Given the description of an element on the screen output the (x, y) to click on. 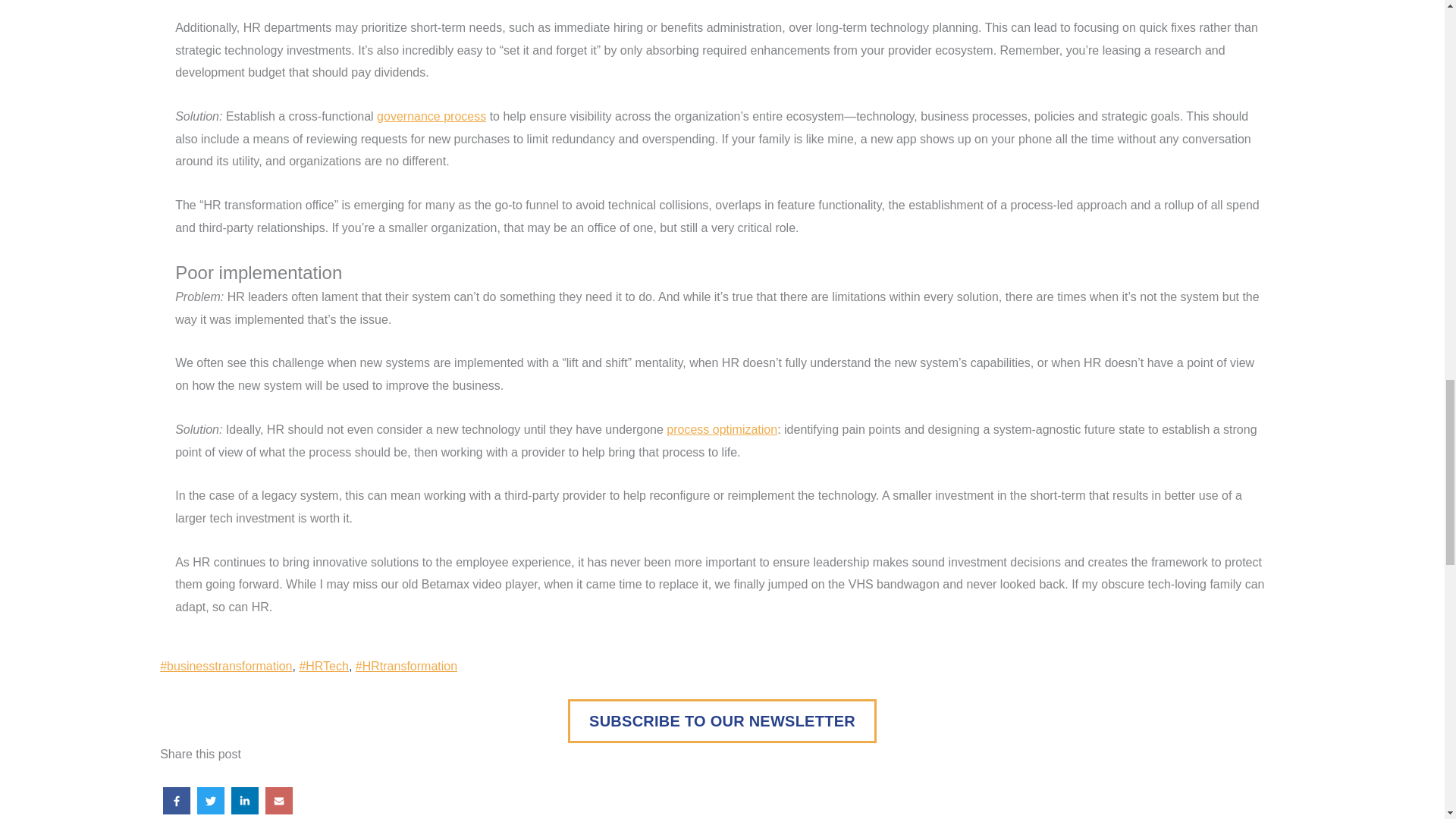
governance process (431, 115)
SUBSCRIBE TO OUR NEWSLETTER (721, 720)
LinkedIn (245, 801)
Twitter (210, 801)
Email (279, 801)
process optimization (721, 429)
Facebook (176, 801)
